Given the description of an element on the screen output the (x, y) to click on. 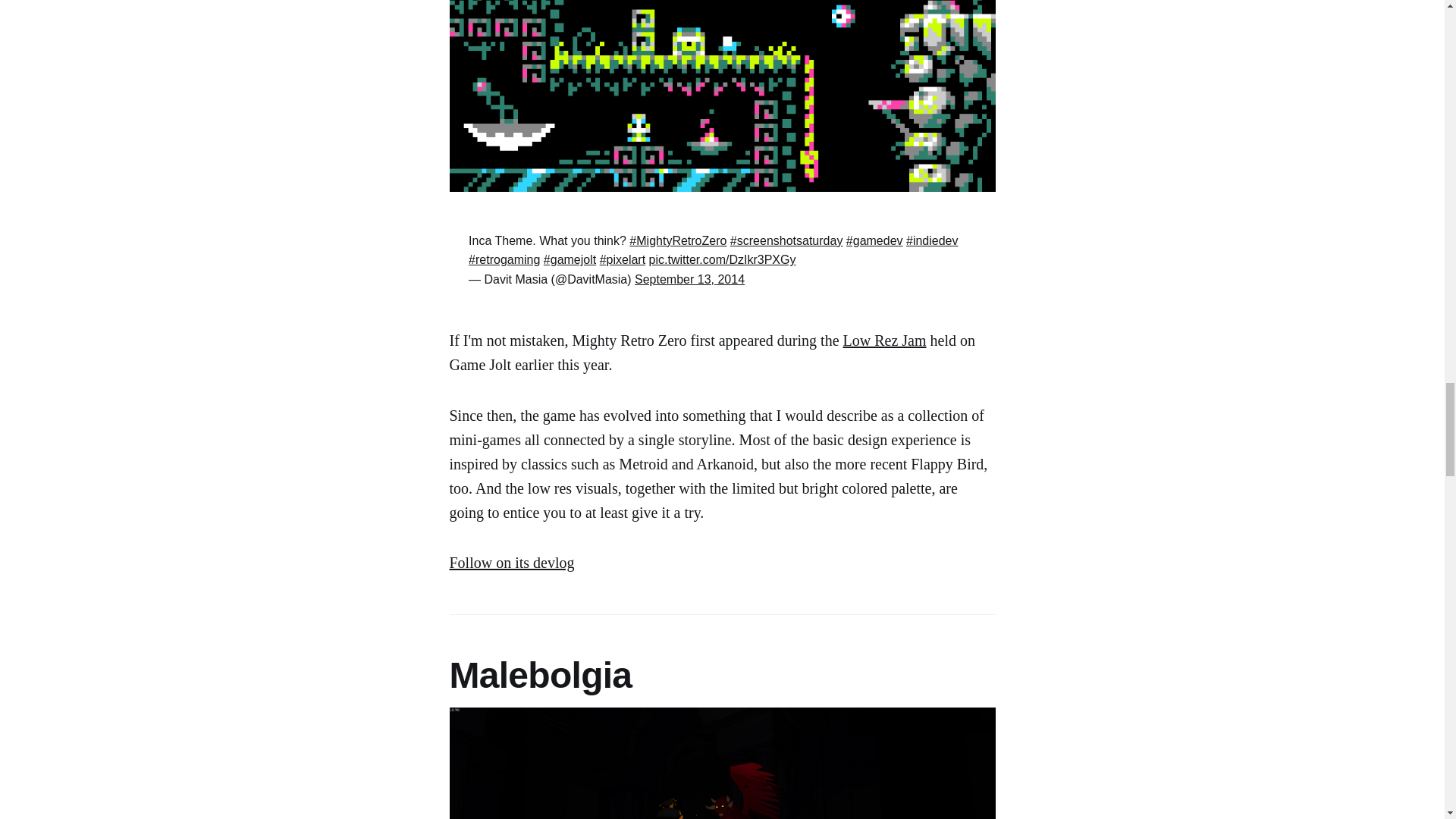
Follow on its devlog (510, 562)
Low Rez Jam (884, 340)
September 13, 2014 (689, 278)
